Given the description of an element on the screen output the (x, y) to click on. 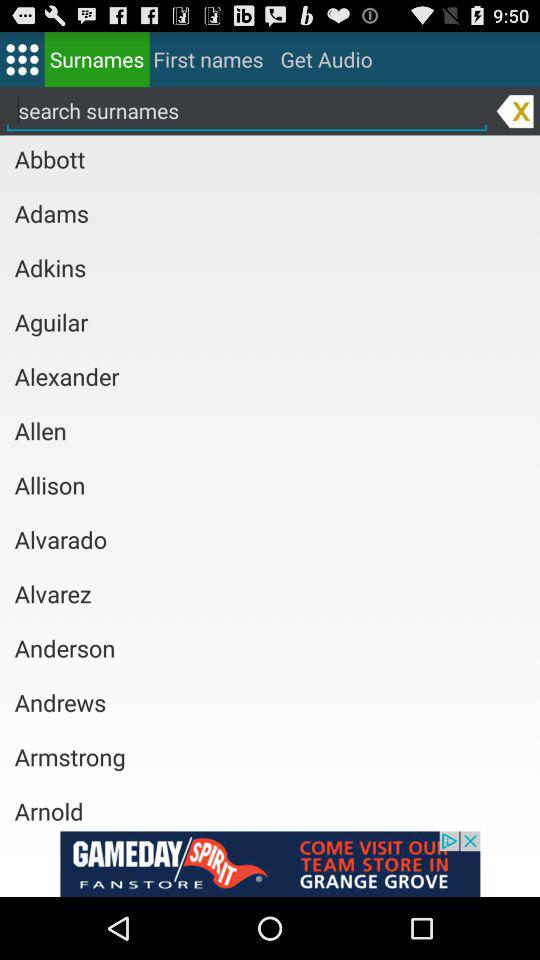
a display of more links (22, 58)
